Given the description of an element on the screen output the (x, y) to click on. 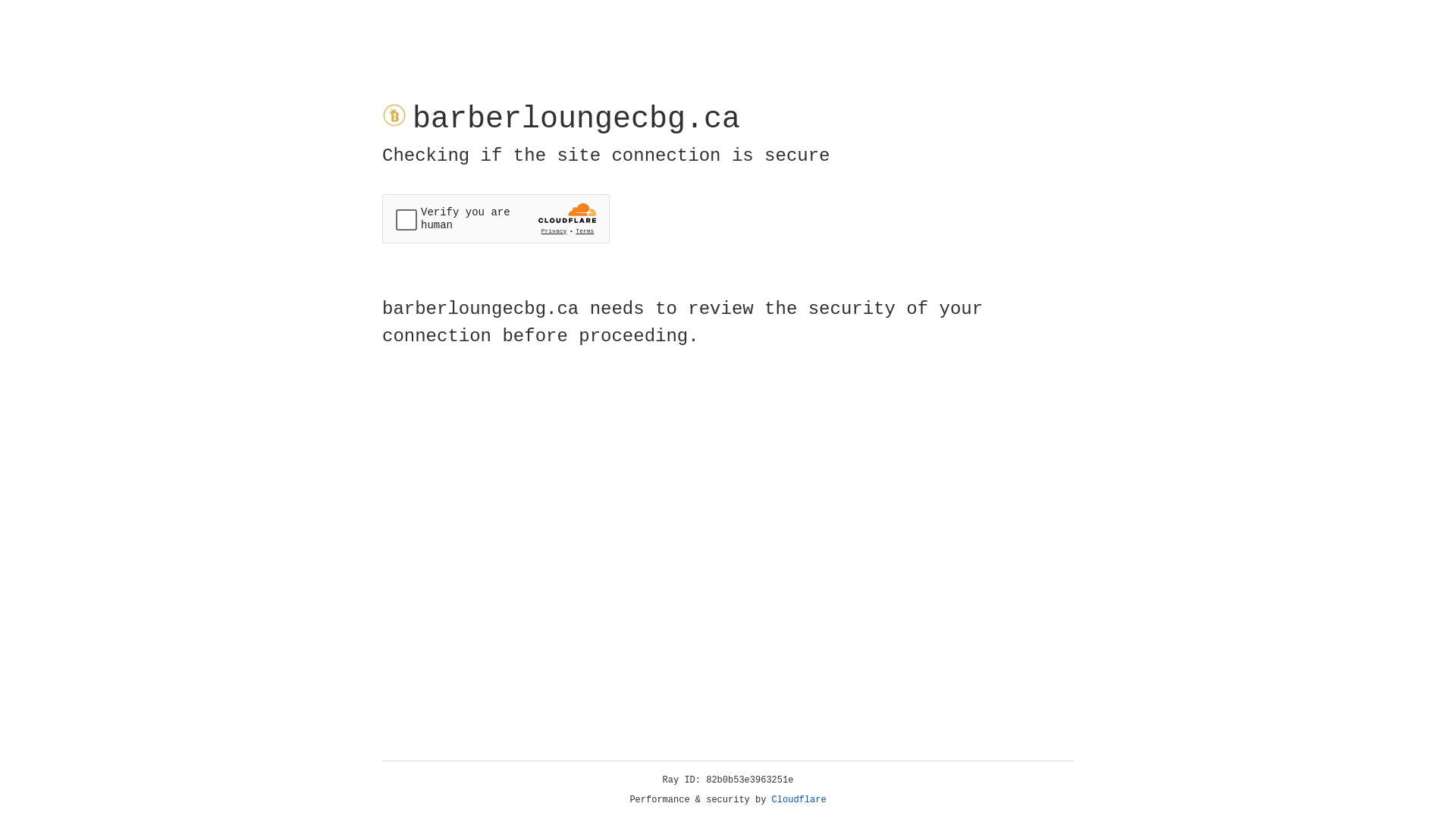
Widget containing a Cloudflare security challenge Element type: hover (495, 218)
Cloudflare Element type: text (798, 799)
